Given the description of an element on the screen output the (x, y) to click on. 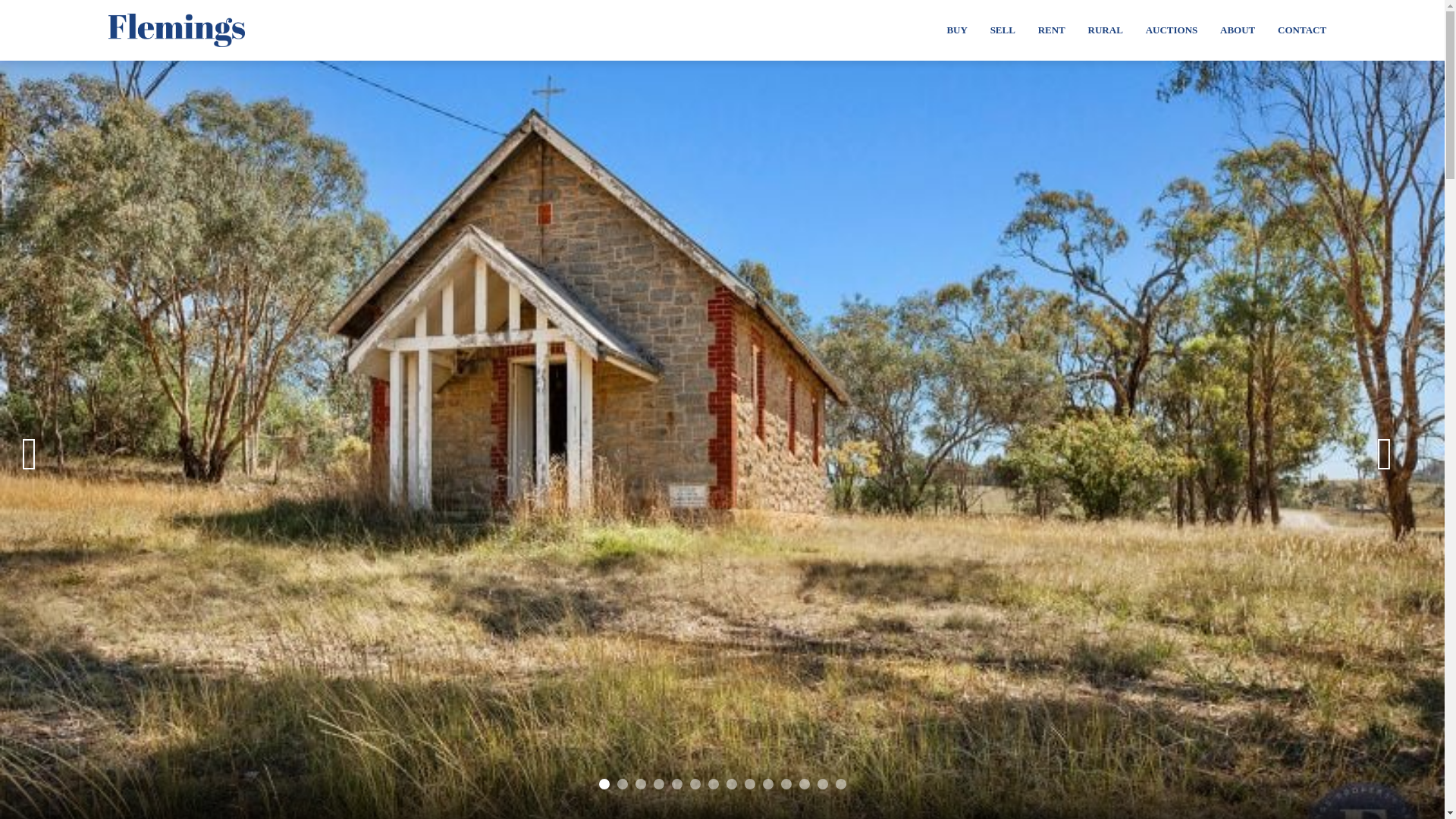
ABOUT (1237, 30)
RURAL (1105, 30)
RENT (1051, 30)
AUCTIONS (1171, 30)
BUY (956, 30)
CONTACT (1302, 30)
SELL (1002, 30)
